Given the description of an element on the screen output the (x, y) to click on. 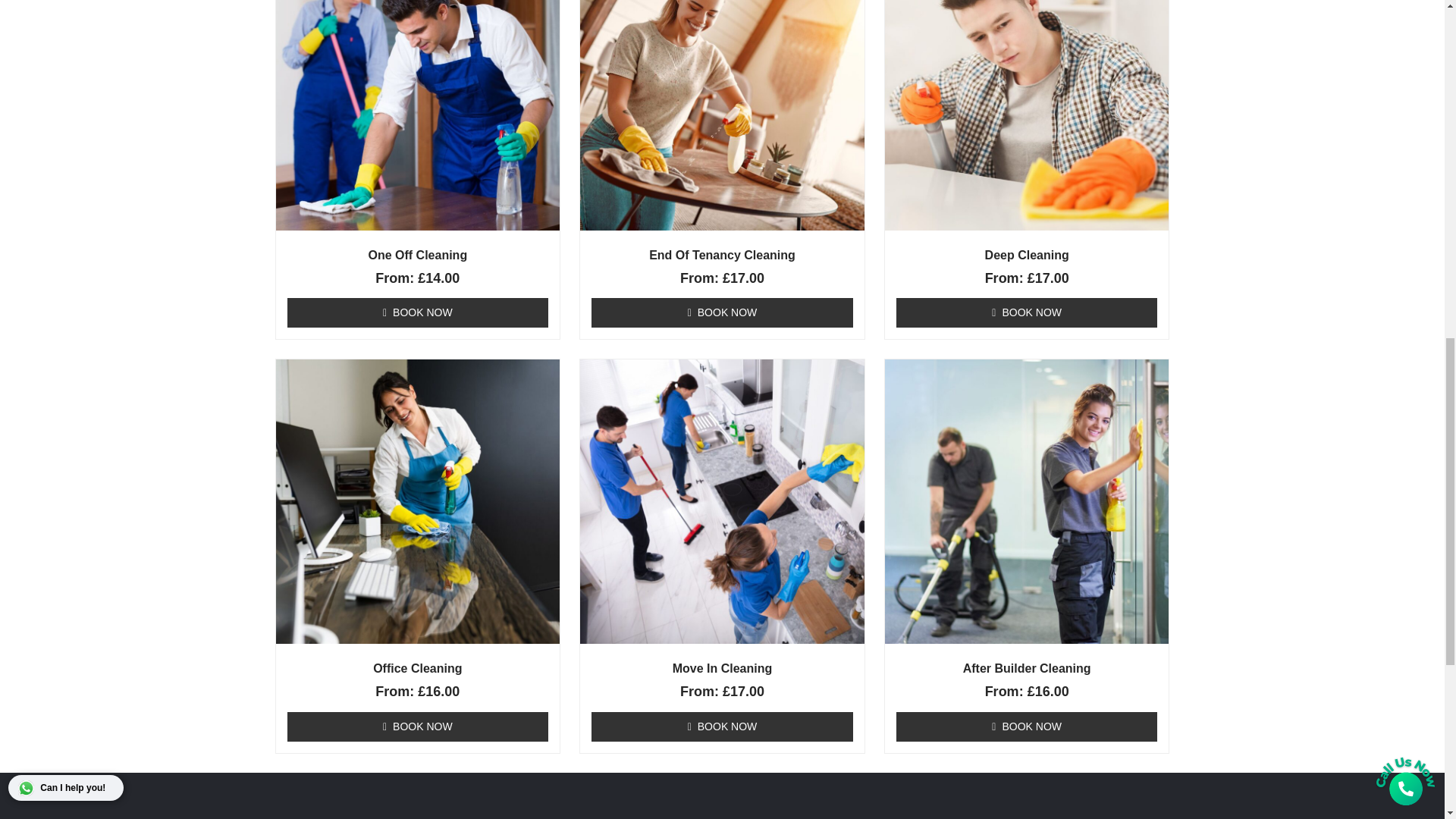
One Off Cleaning (418, 255)
BOOK NOW (722, 312)
BOOK NOW (722, 726)
Move In Cleaning (721, 668)
BOOK NOW (1026, 312)
Deep Cleaning (1027, 255)
BOOK NOW (417, 312)
After Builder Cleaning (1027, 668)
Office Cleaning (418, 668)
BOOK NOW (417, 726)
BOOK NOW (1026, 726)
End Of Tenancy Cleaning (721, 255)
